Given the description of an element on the screen output the (x, y) to click on. 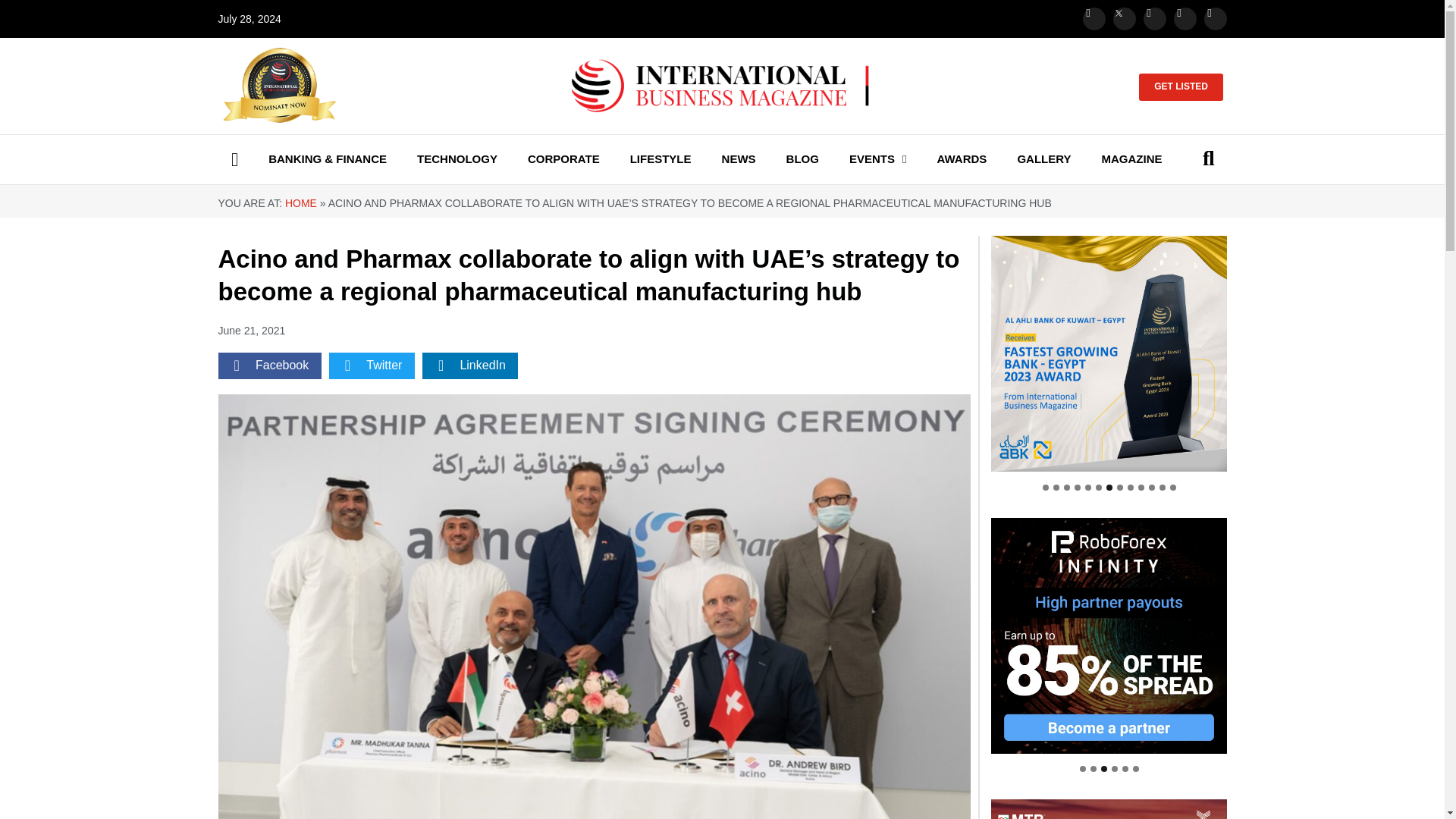
NEWS (737, 159)
EVENTS (877, 159)
CORPORATE (562, 159)
GALLERY (1044, 159)
BLOG (802, 159)
RF - EN - Infinity 1 - 1080x1080 (1109, 635)
GET LISTED (1180, 86)
TECHNOLOGY (457, 159)
AWARDS (961, 159)
LIFESTYLE (659, 159)
ABK Banner (1109, 353)
MAGAZINE (1130, 159)
